Given the description of an element on the screen output the (x, y) to click on. 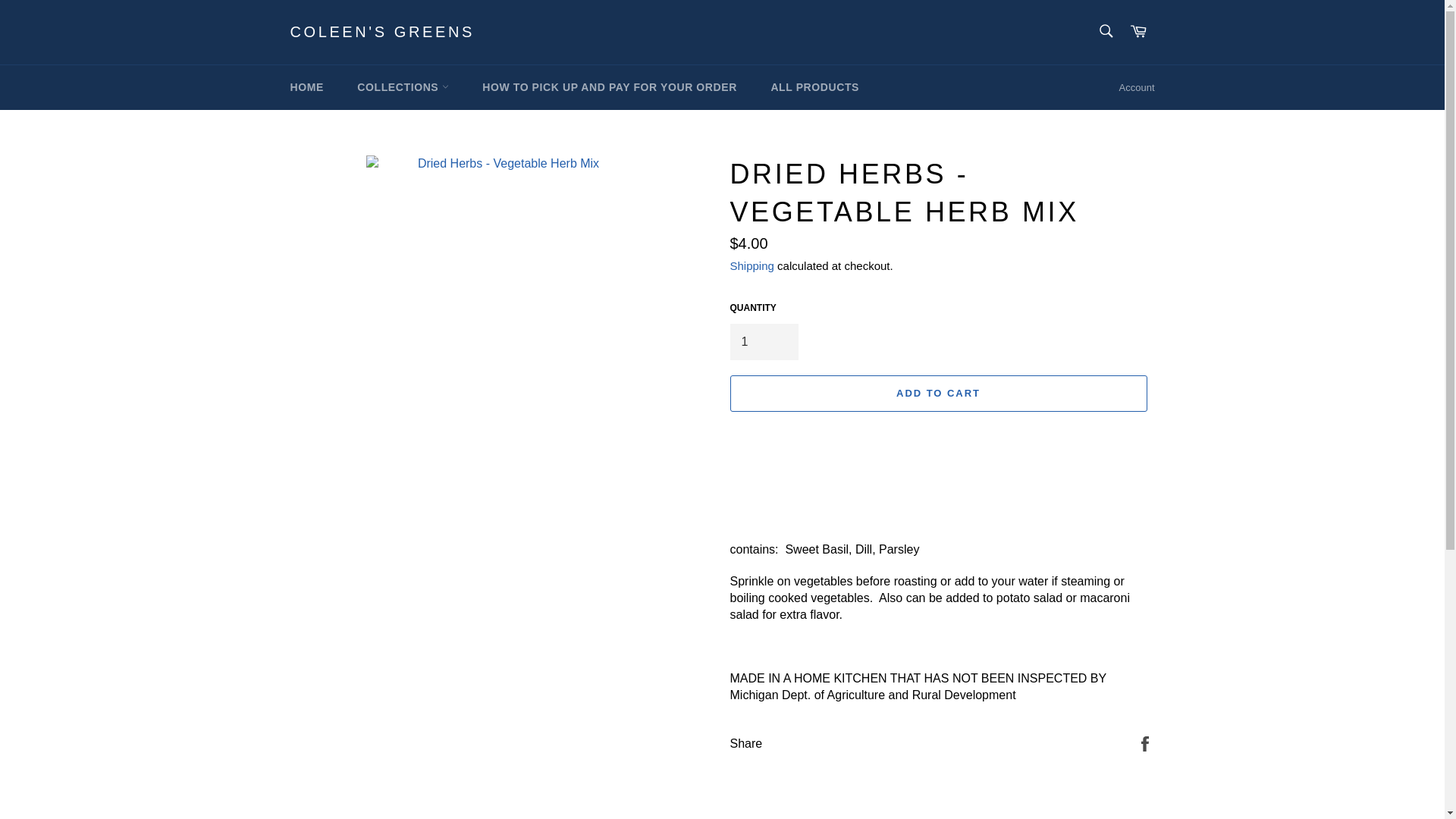
Share on Facebook (1144, 743)
Share on Facebook (1144, 743)
Account (1136, 87)
ADD TO CART (938, 393)
Shipping (751, 265)
Search (1104, 30)
COLEEN'S GREENS (381, 32)
1 (763, 341)
HOME (306, 87)
Cart (1138, 32)
COLLECTIONS (402, 87)
HOW TO PICK UP AND PAY FOR YOUR ORDER (609, 87)
ALL PRODUCTS (815, 87)
